Given the description of an element on the screen output the (x, y) to click on. 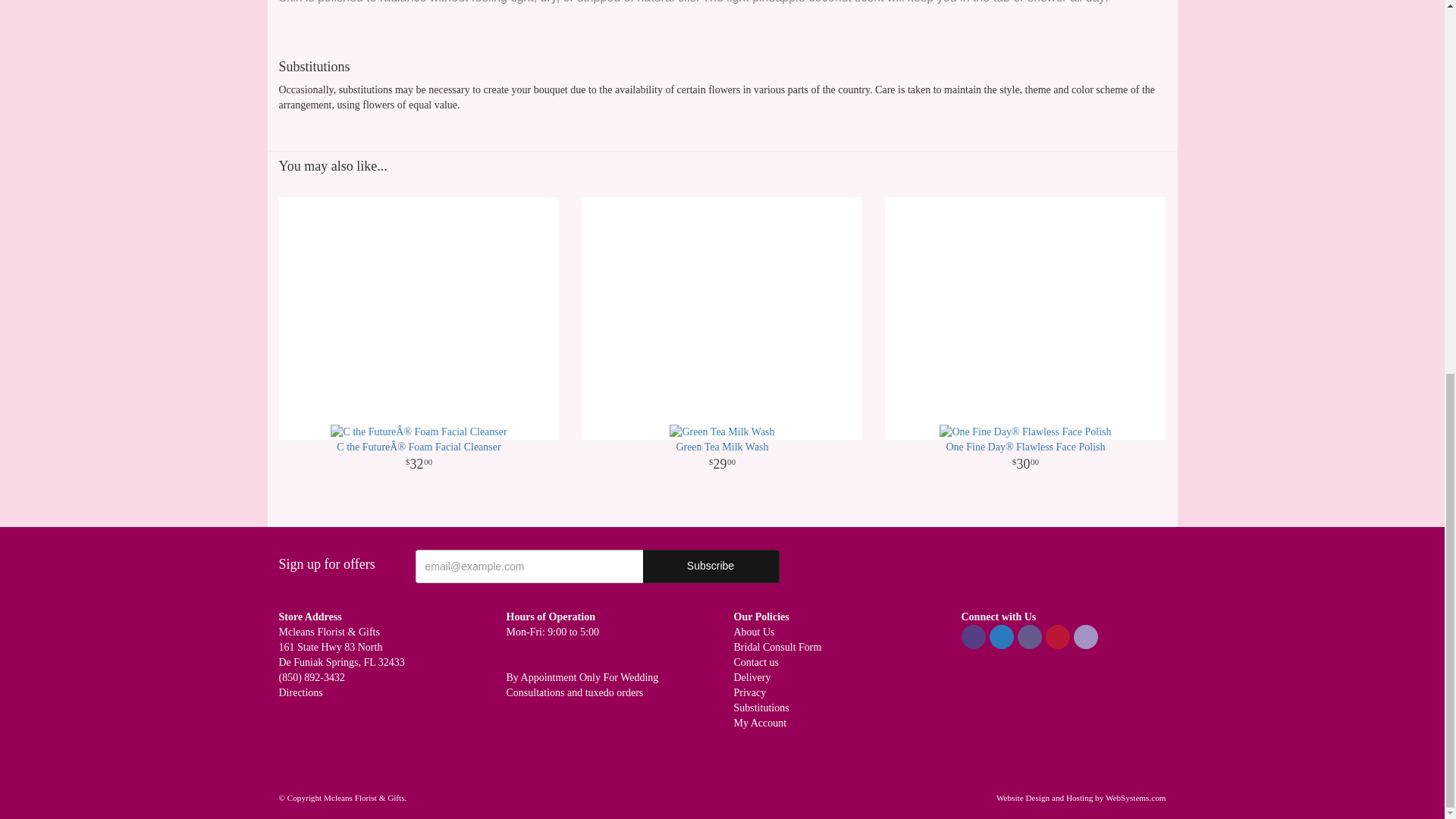
Subscribe (710, 566)
